Given the description of an element on the screen output the (x, y) to click on. 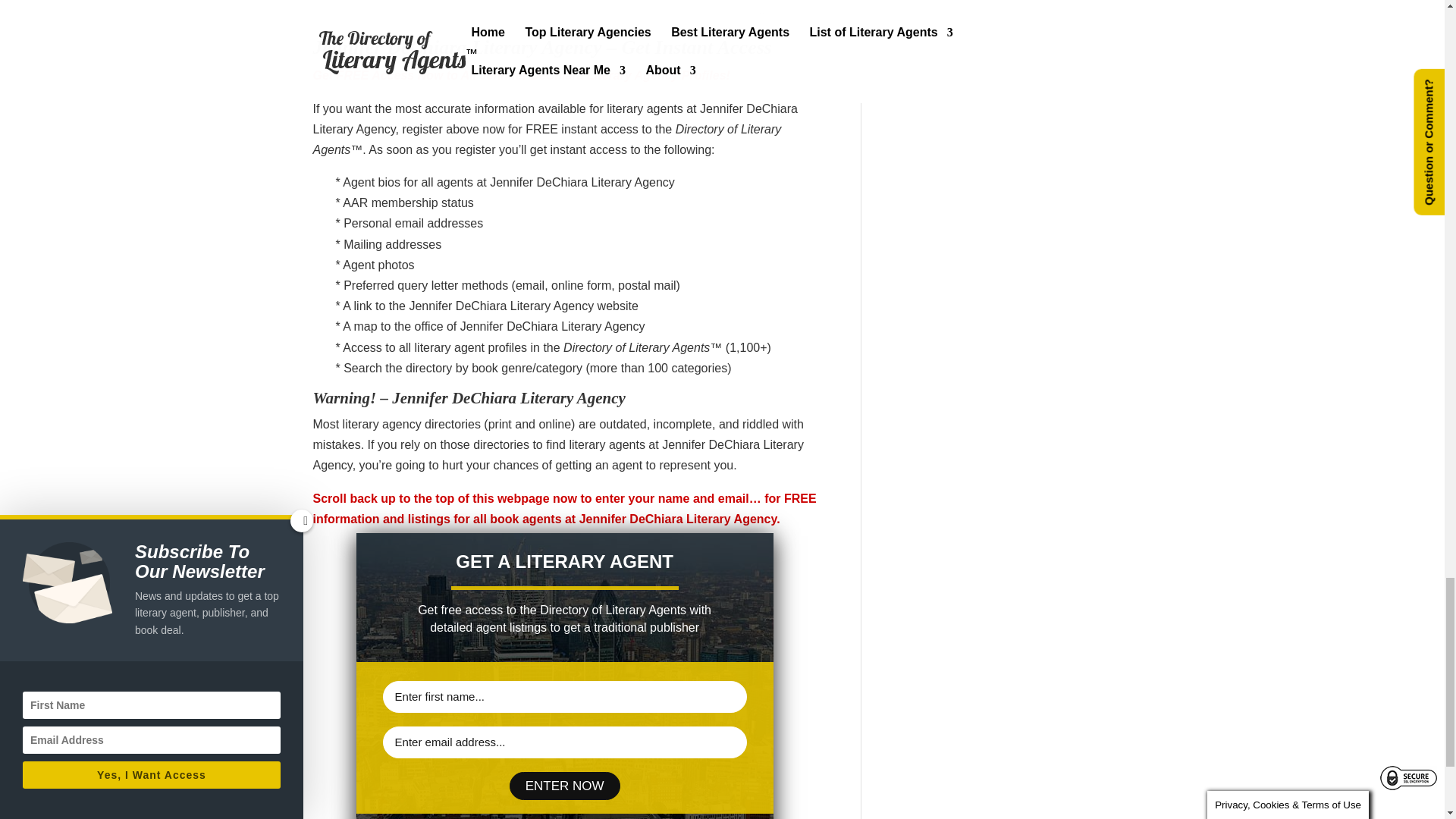
Literary Agents New York Directory (540, 9)
